Given the description of an element on the screen output the (x, y) to click on. 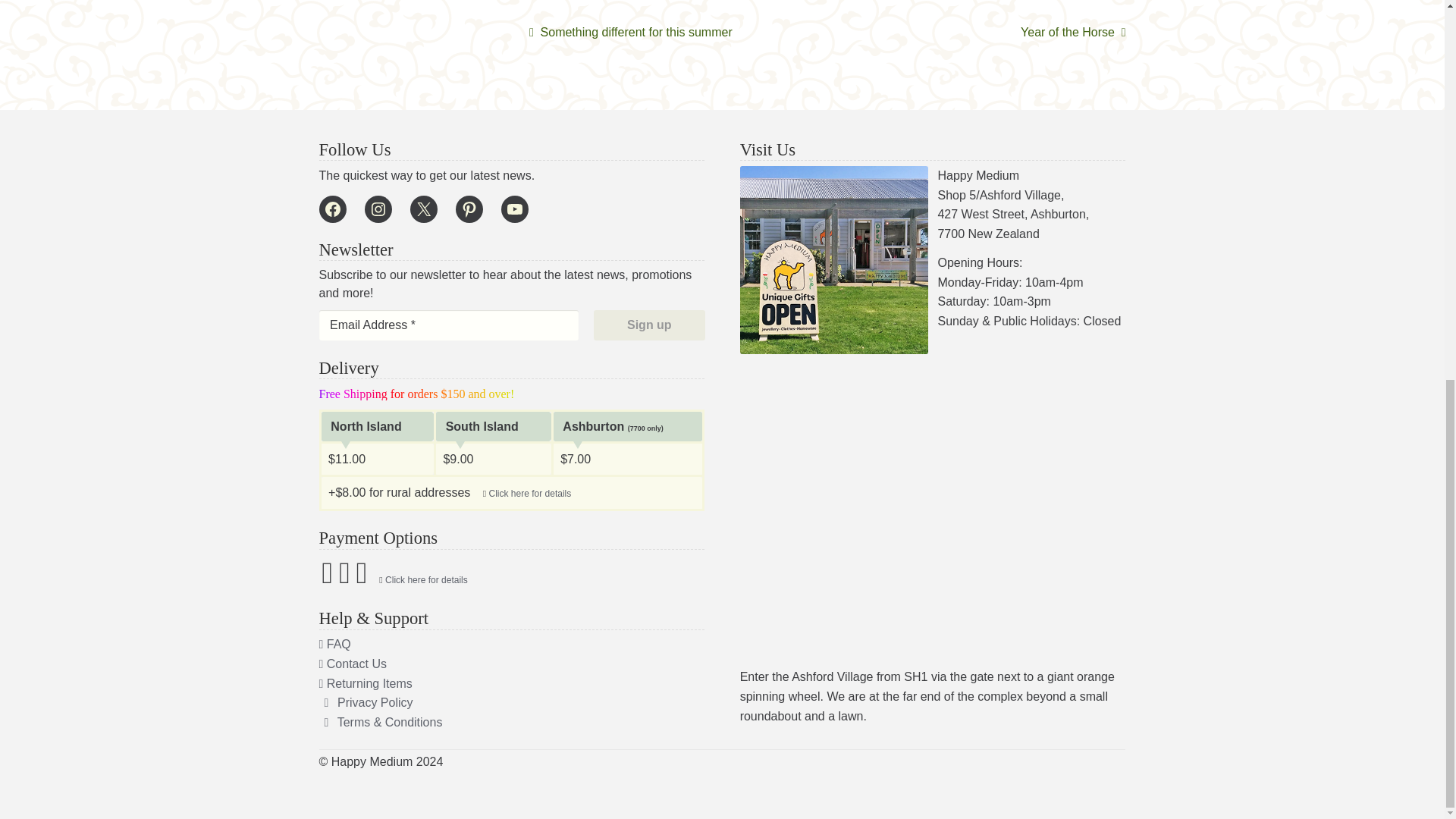
Sign up (649, 325)
Email Address (448, 325)
